Given the description of an element on the screen output the (x, y) to click on. 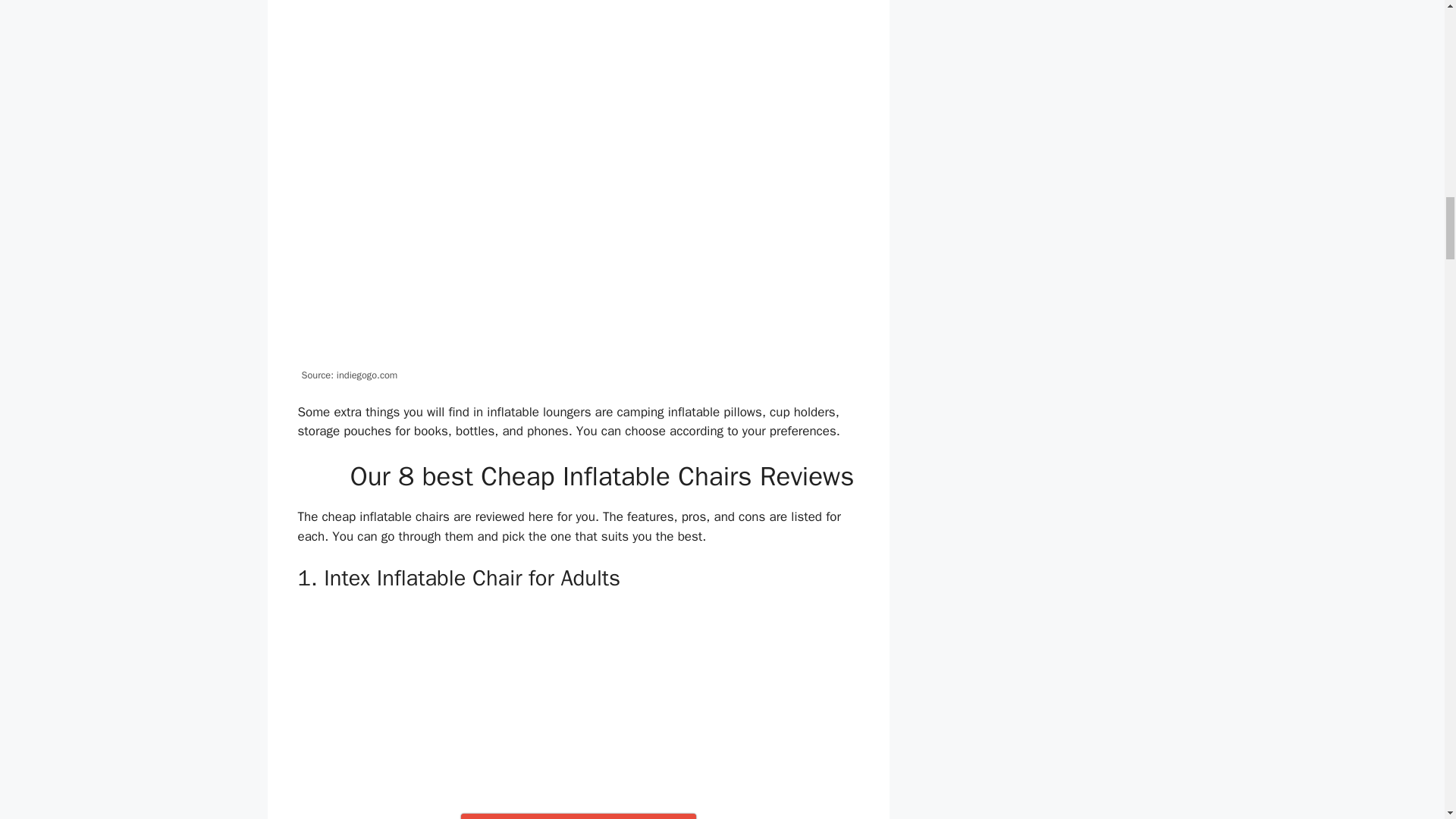
Check Price On Amazon (578, 816)
